Given the description of an element on the screen output the (x, y) to click on. 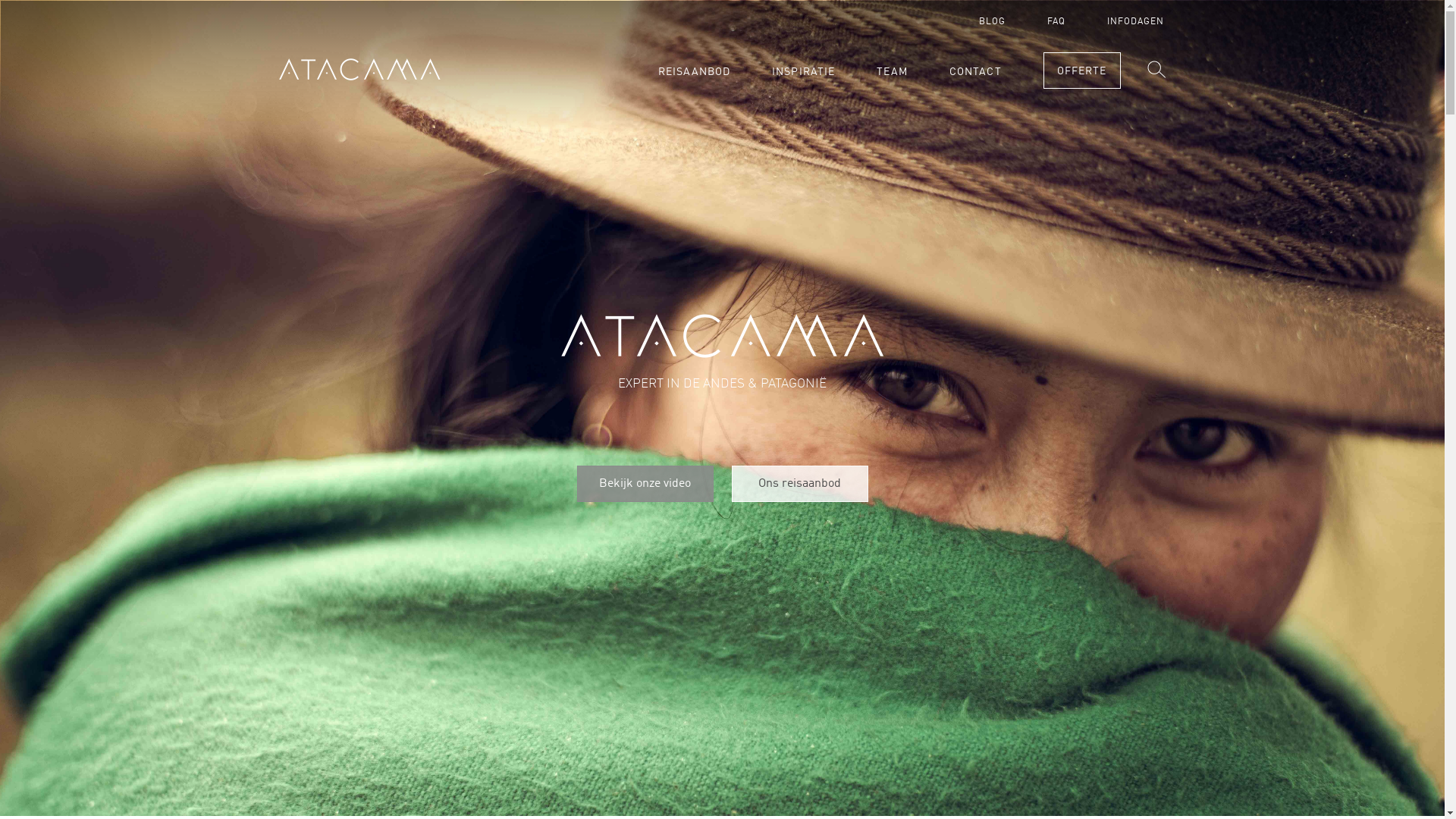
OFFERTE Element type: text (1081, 70)
FAQ Element type: text (1055, 21)
INSPIRATIE Element type: text (803, 71)
INFODAGEN Element type: text (1135, 21)
BLOG Element type: text (991, 21)
Bekijk onze video Element type: text (644, 483)
CONTACT Element type: text (975, 71)
Ons reisaanbod Element type: text (799, 483)
TEAM Element type: text (891, 71)
REISAANBOD Element type: text (693, 71)
